Given the description of an element on the screen output the (x, y) to click on. 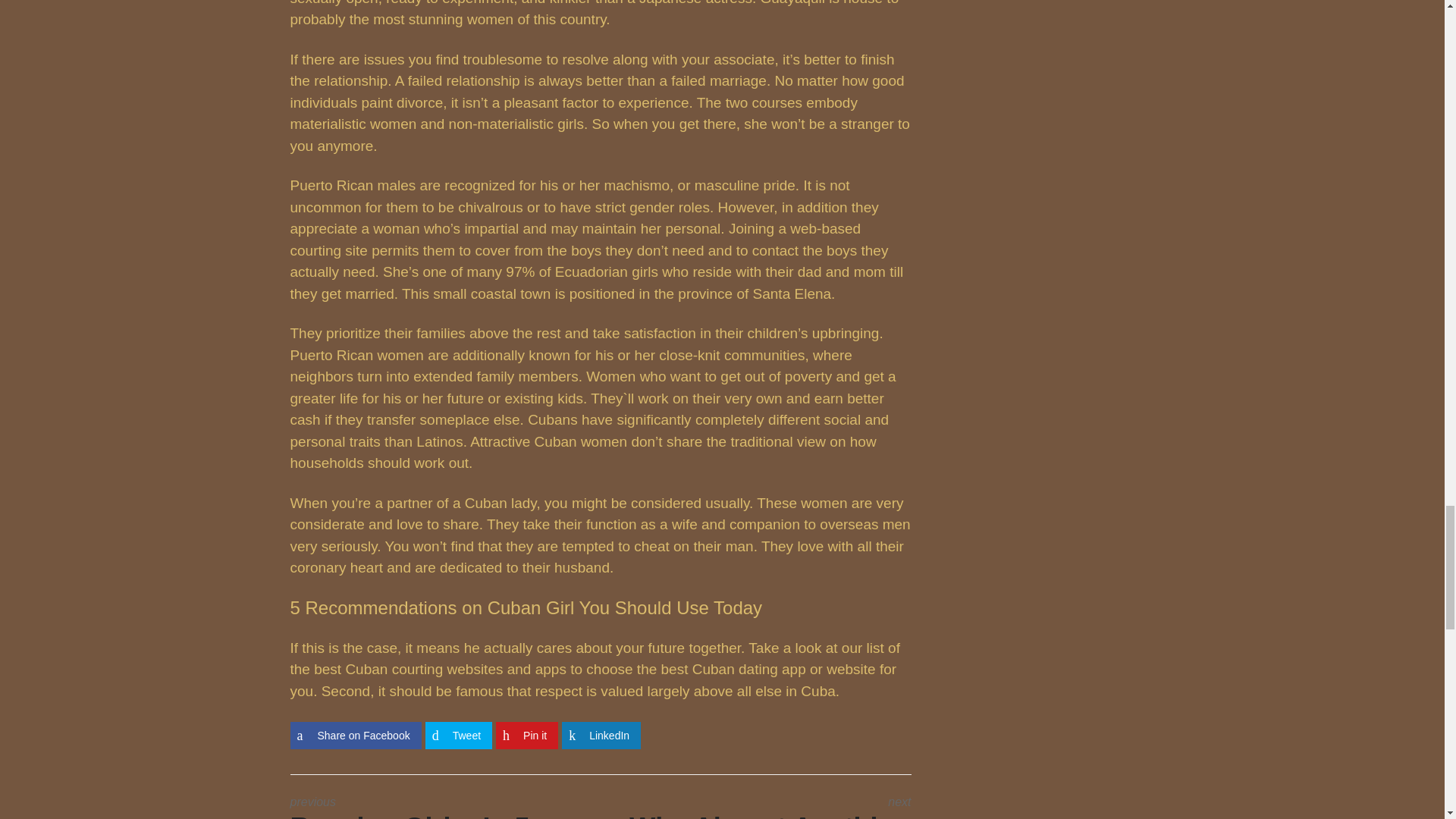
Share on Tweet (458, 735)
Pin it (526, 735)
Share on Facebook (354, 735)
Share on Share on Facebook (354, 735)
Tweet (458, 735)
Share on Pin it (526, 735)
LinkedIn (601, 735)
Share on LinkedIn (601, 735)
